Given the description of an element on the screen output the (x, y) to click on. 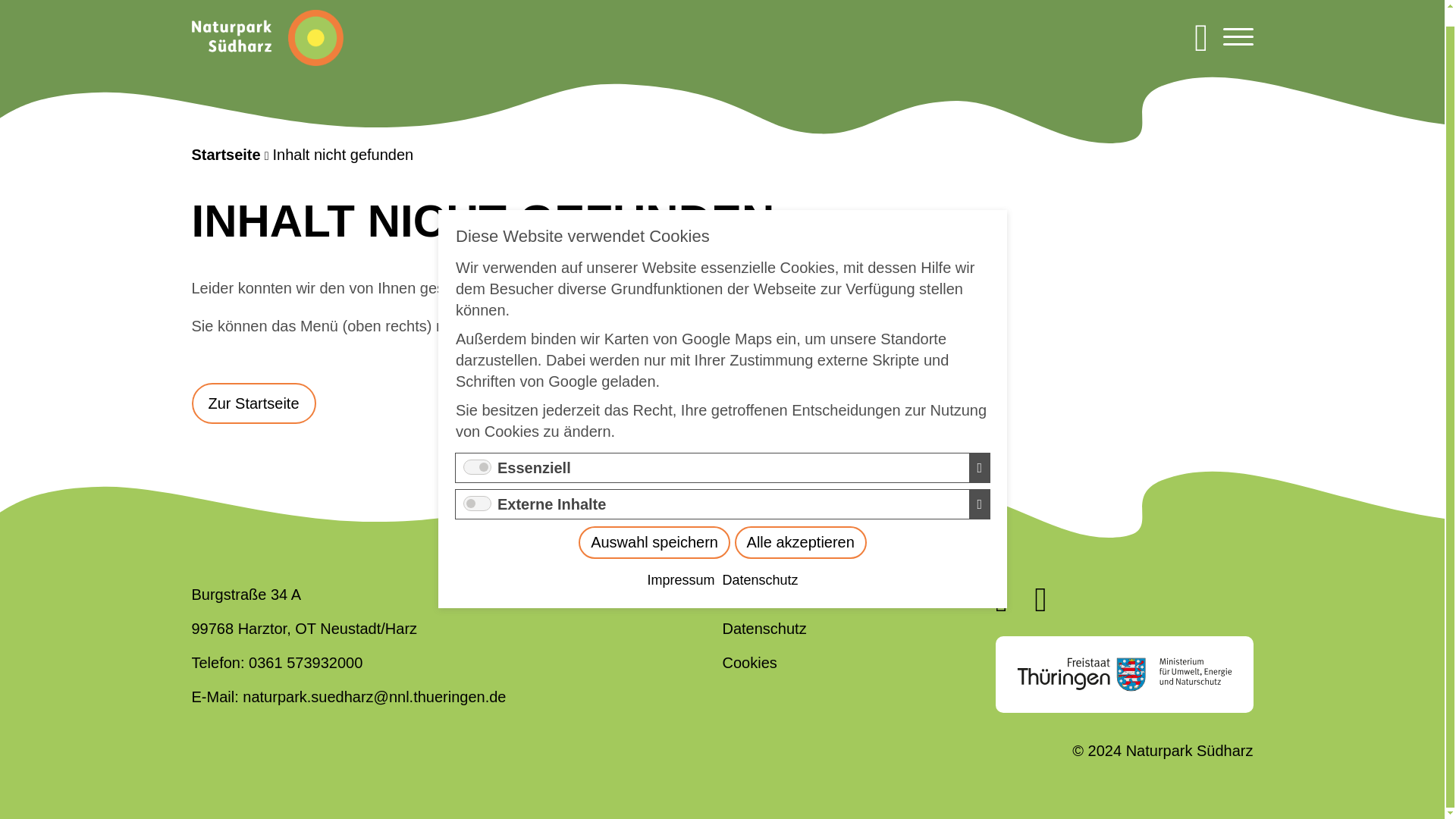
Impressum (737, 440)
Alle akzeptieren (789, 427)
Auswahl speichern (785, 419)
Datenschutz (759, 457)
